Given the description of an element on the screen output the (x, y) to click on. 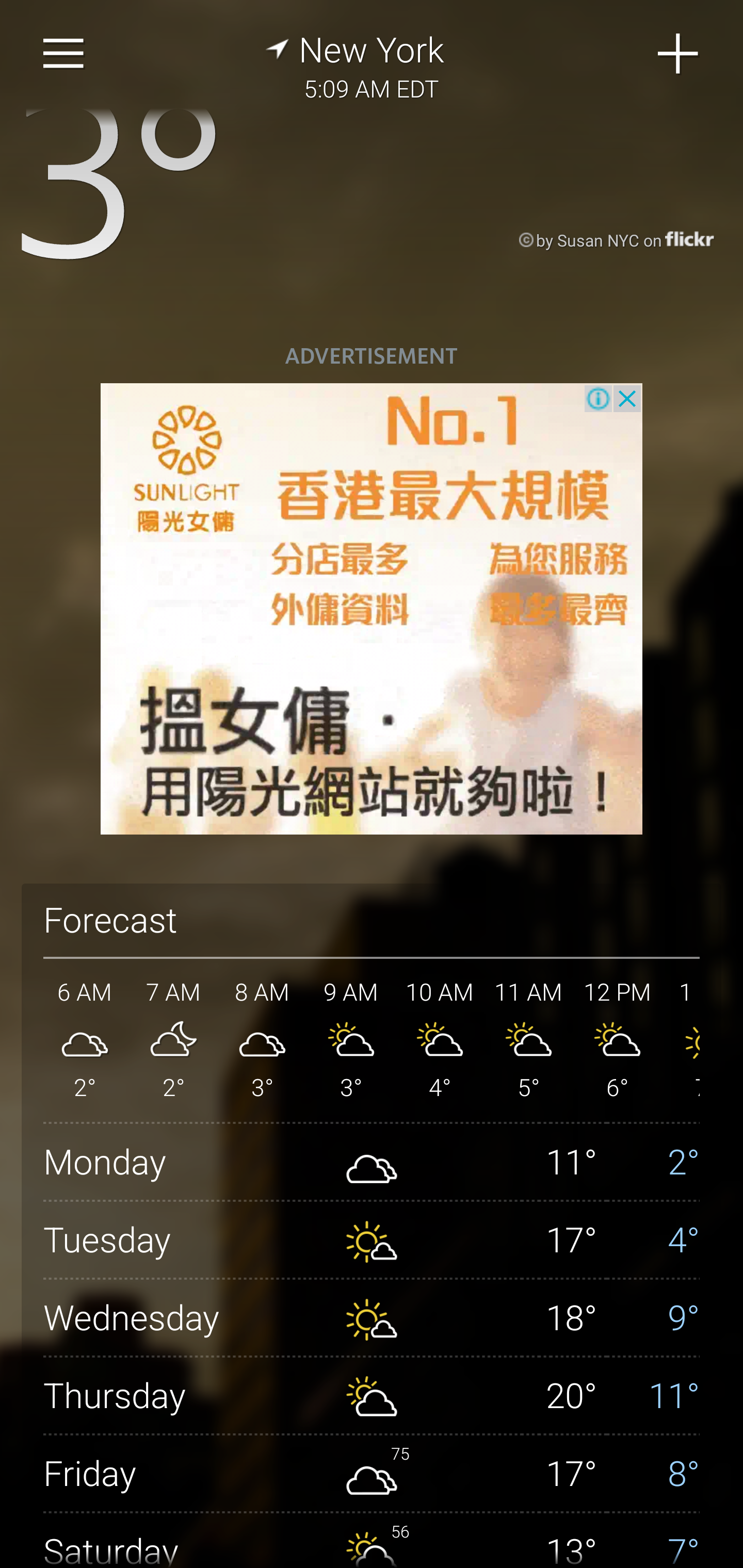
Sidebar (64, 54)
Add City (678, 53)
www.sunlight (371, 608)
